Given the description of an element on the screen output the (x, y) to click on. 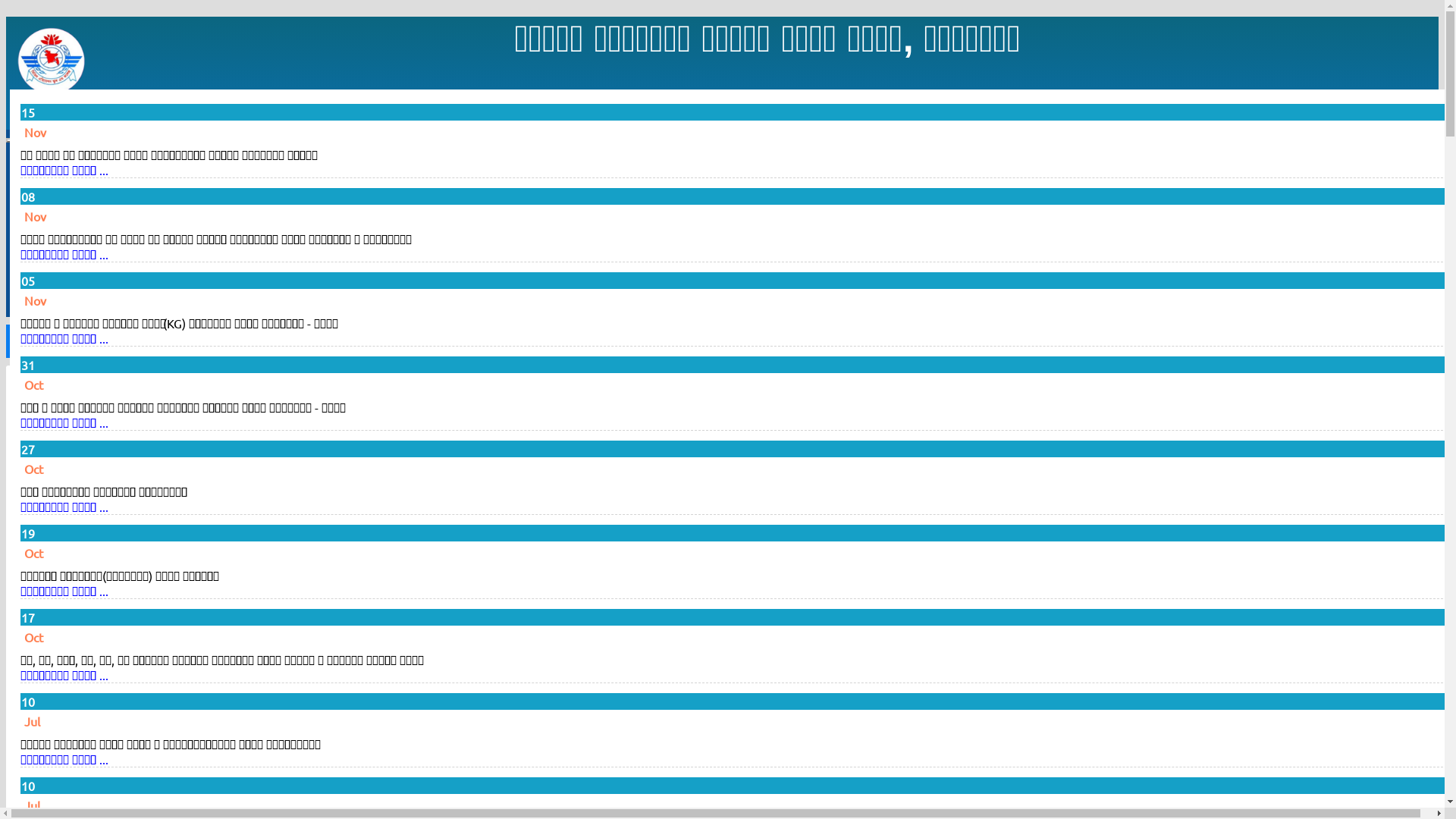
BNCC Element type: hover (721, 619)
saver-LOGO Element type: hover (51, 61)
